Given the description of an element on the screen output the (x, y) to click on. 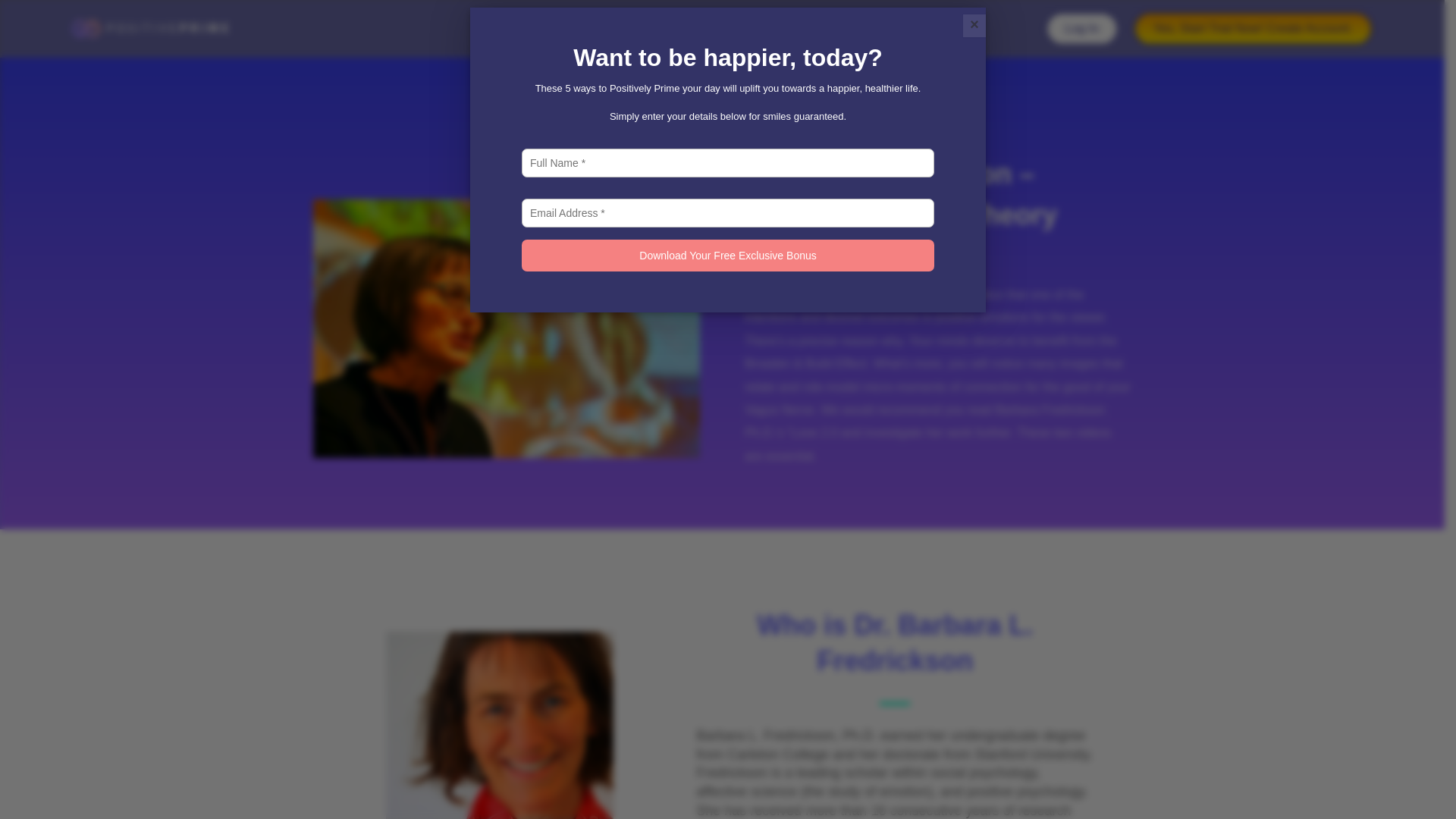
Download Your Free Exclusive Bonus (727, 255)
Log In (1081, 28)
Getting Started (641, 28)
Yes, Start Trial Now! Create Account. (1253, 28)
